Given the description of an element on the screen output the (x, y) to click on. 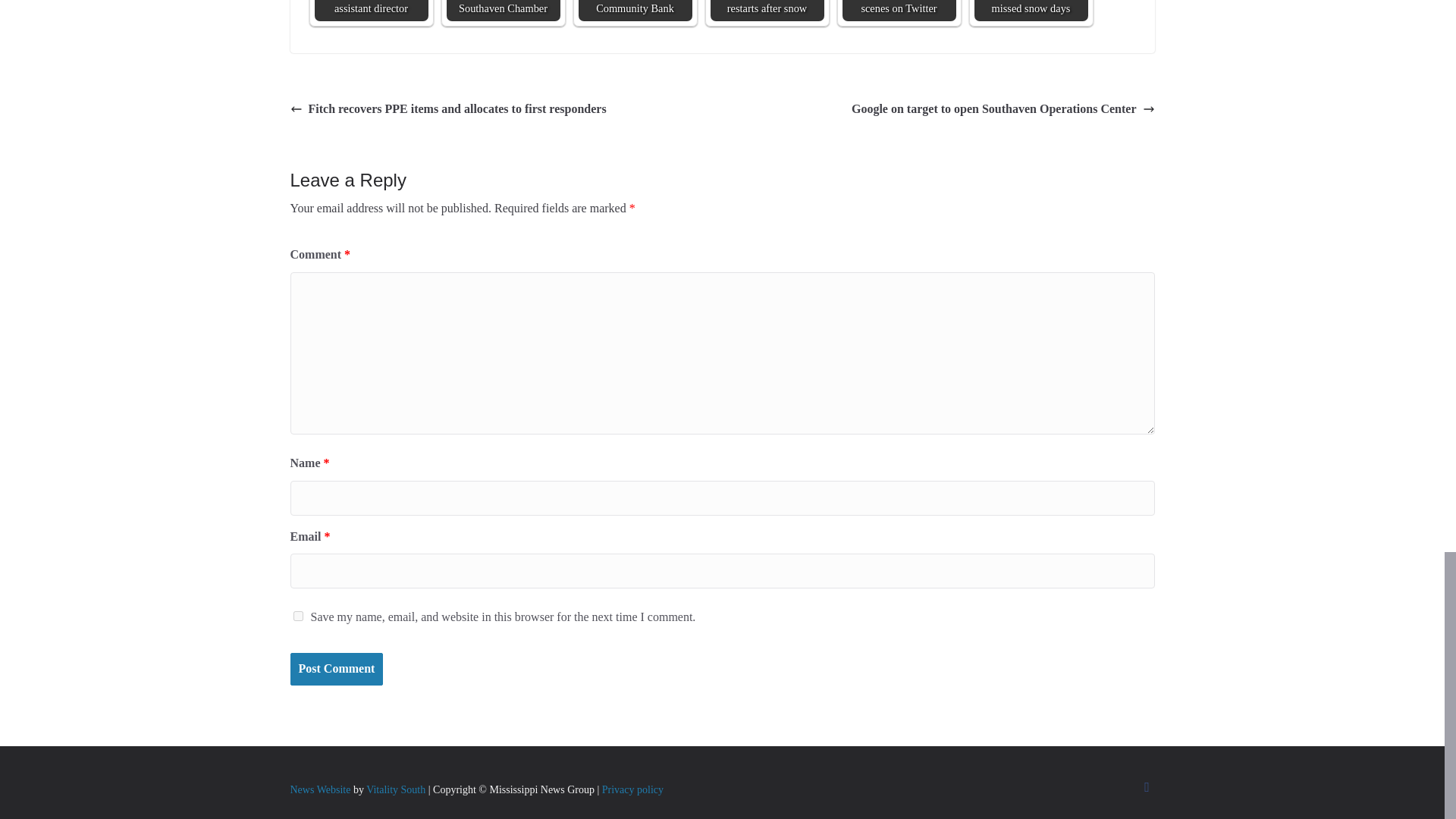
Post Comment (335, 668)
No make up days for missed snow days (1030, 10)
Hibbler promoted to Southaven Chamber assistant director (371, 10)
Garbage collection restarts after snow (767, 10)
Phillips promoted at Community Bank (634, 10)
DeSoto County snow scenes on Twitter (898, 10)
yes (297, 615)
